Given the description of an element on the screen output the (x, y) to click on. 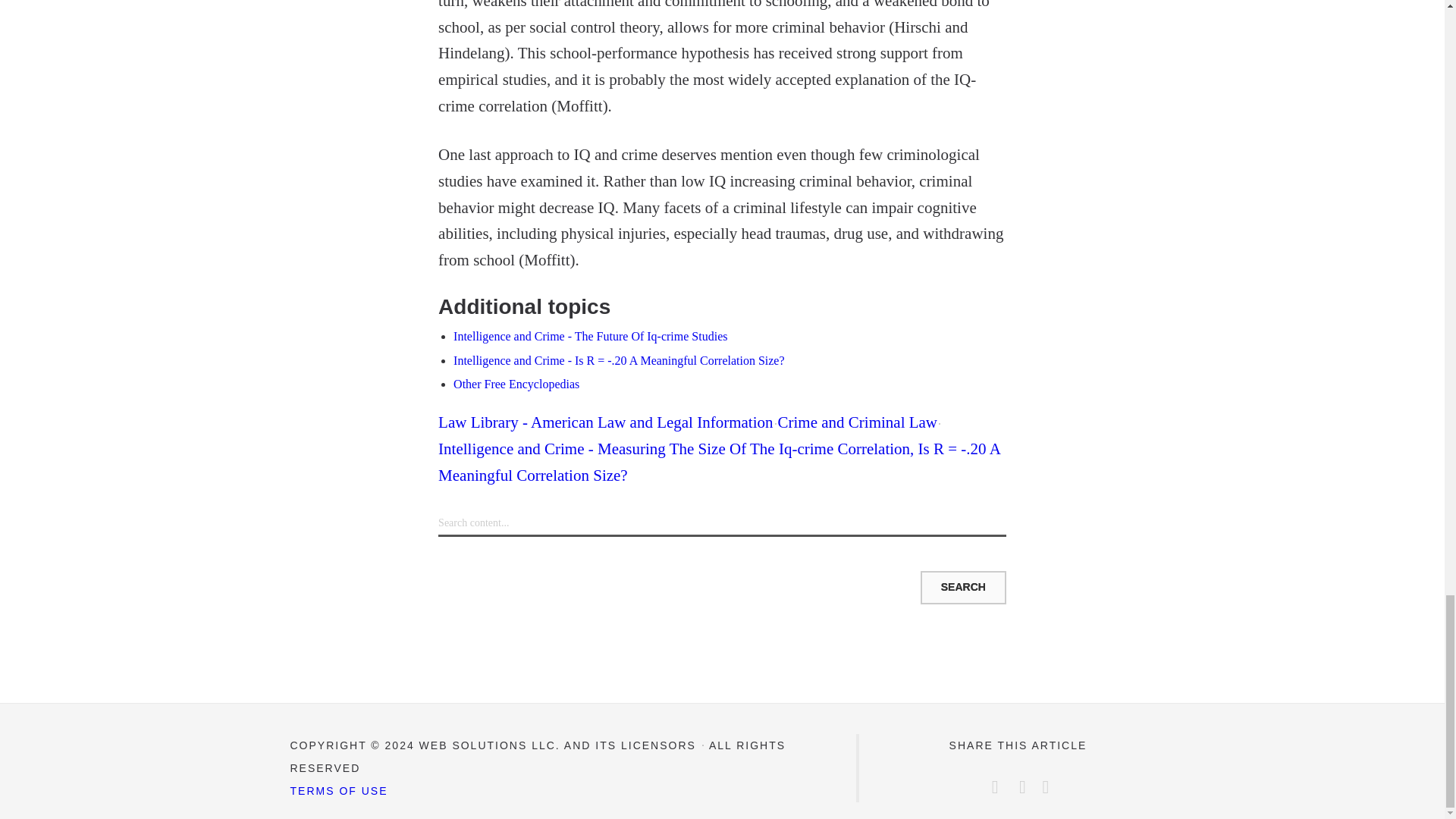
Intelligence and Crime - The Future Of Iq-crime Studies (589, 336)
TERMS OF USE (338, 790)
Other Free Encyclopedias (515, 383)
Search (963, 587)
Search (963, 587)
Law Library - American Law and Legal Information (605, 422)
Crime and Criminal Law (857, 422)
